Given the description of an element on the screen output the (x, y) to click on. 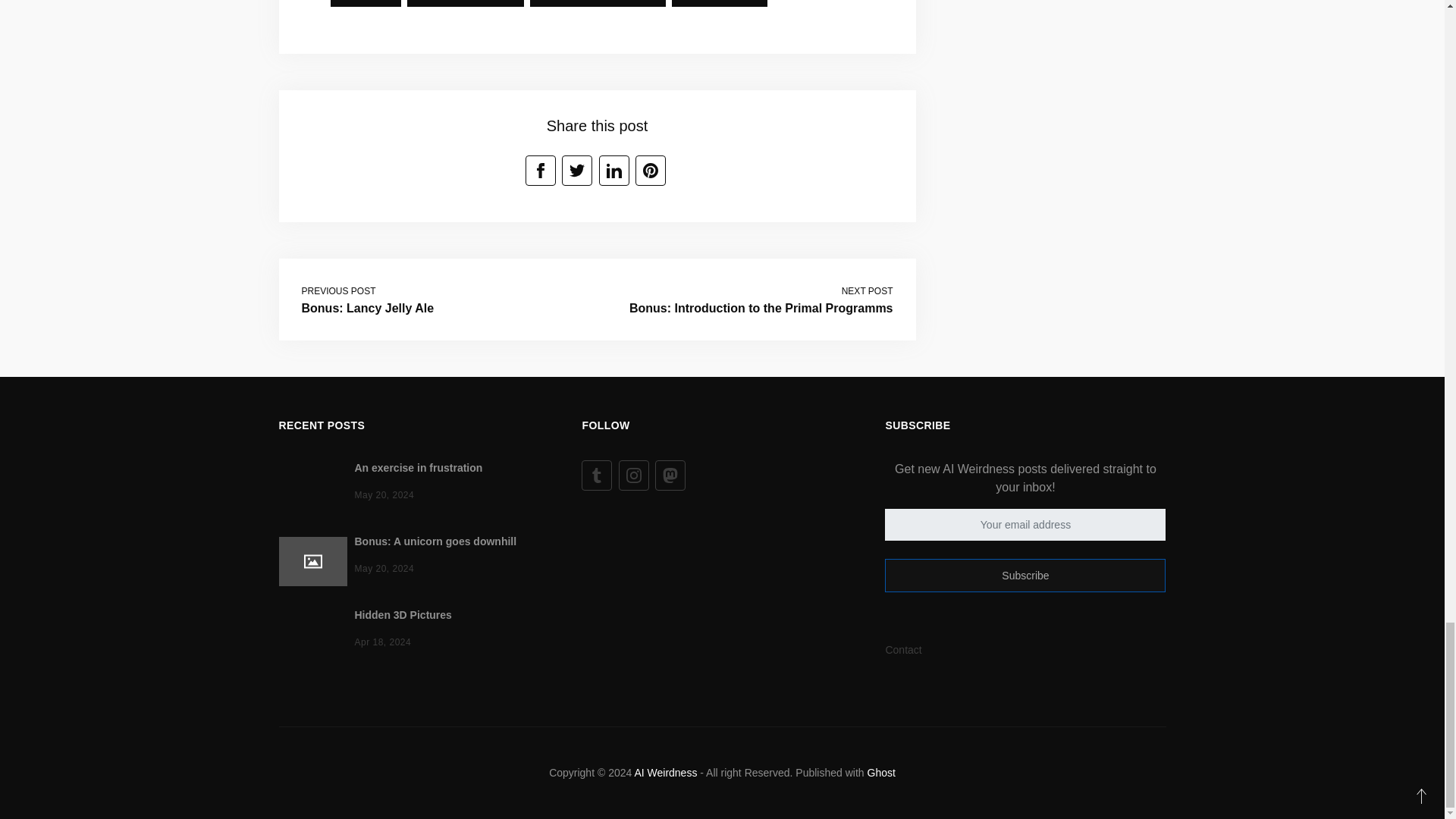
Bonus: Lancy Jelly Ale (367, 308)
Share on Linkedin (613, 170)
Share on Facebook (540, 170)
Share on Twitter (577, 170)
NEOPETS FOODS (465, 3)
Share on Pinterest (649, 170)
NEURAL NETWORKS (597, 3)
PREVIOUS POST (338, 290)
NEXT POST (867, 290)
NEOPETS (365, 3)
